Given the description of an element on the screen output the (x, y) to click on. 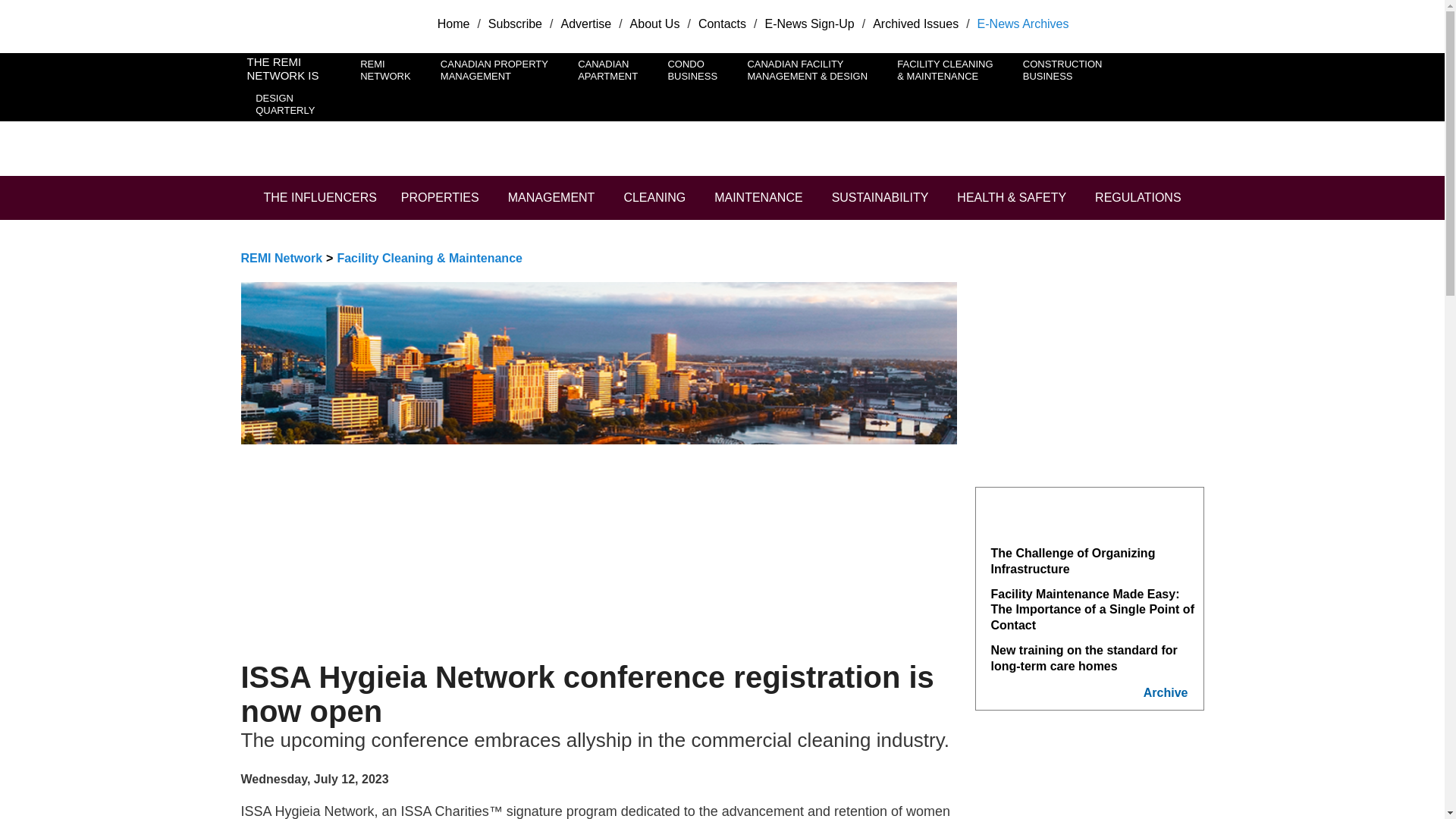
Follow Us on Twitter (1122, 27)
Search (25, 9)
Follow Us on Facebook (1154, 27)
Follow Us on Twitter (1122, 27)
3rd party ad content (925, 126)
E-News Sign-Up (808, 23)
Follow Us on LinkedIn (1184, 27)
Contacts (1062, 69)
Part of the Real Estate Marketing Industry Network (721, 23)
Home (568, 126)
Archived Issues (285, 103)
About Us (454, 23)
Advertise (915, 23)
